Given the description of an element on the screen output the (x, y) to click on. 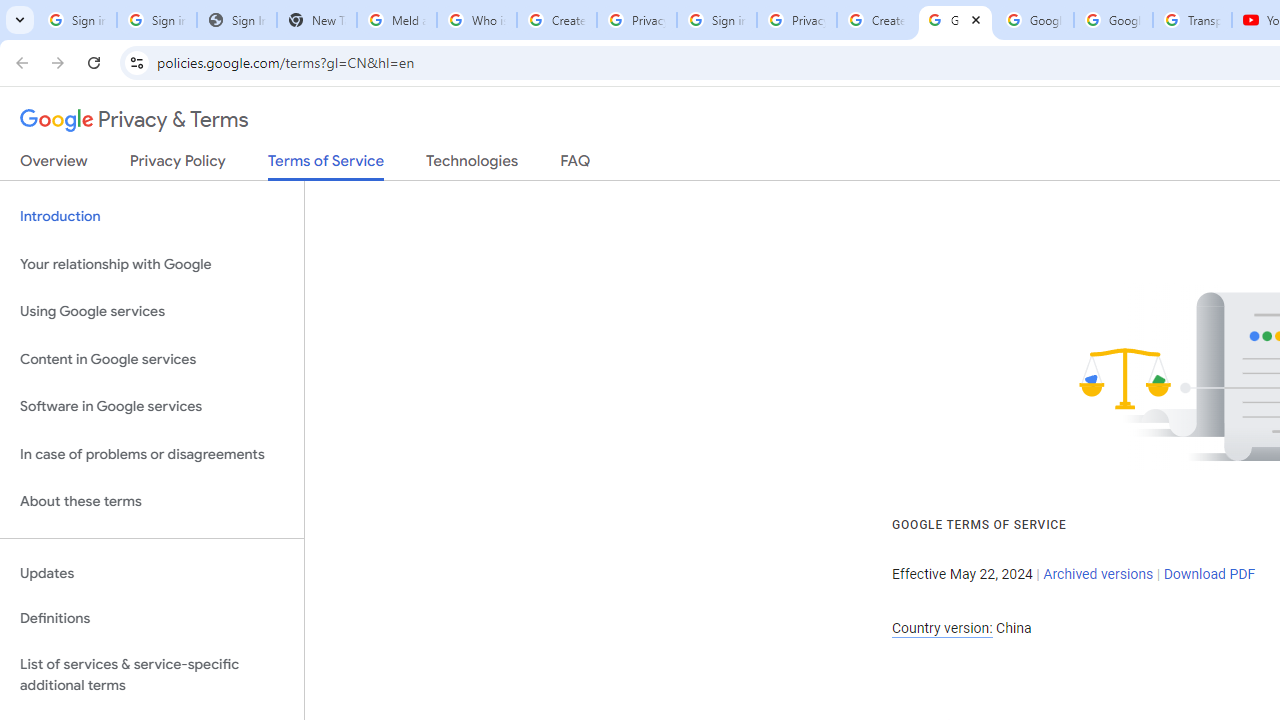
New Tab (316, 20)
List of services & service-specific additional terms (152, 674)
Sign in - Google Accounts (76, 20)
Google Account (1113, 20)
FAQ (575, 165)
Create your Google Account (556, 20)
About these terms (152, 502)
Sign In - USA TODAY (236, 20)
